Given the description of an element on the screen output the (x, y) to click on. 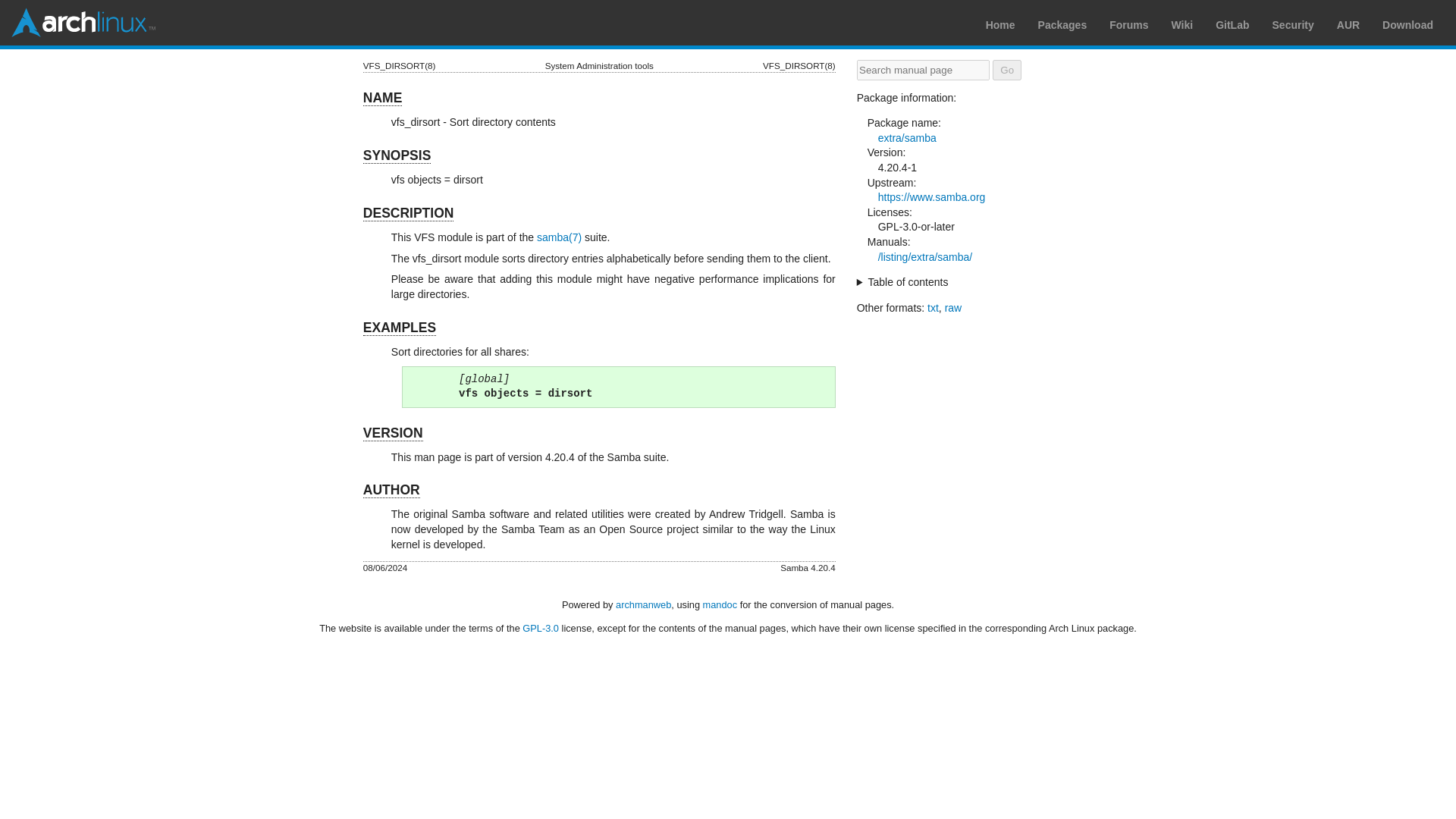
VERSION (392, 433)
Home (999, 24)
Arch Linux (83, 22)
archmanweb (643, 604)
GitLab (1232, 24)
AUTHOR (391, 489)
Packages (1062, 24)
Get Arch Linux (1406, 24)
NAME (382, 98)
GPL-3.0 (540, 627)
